Given the description of an element on the screen output the (x, y) to click on. 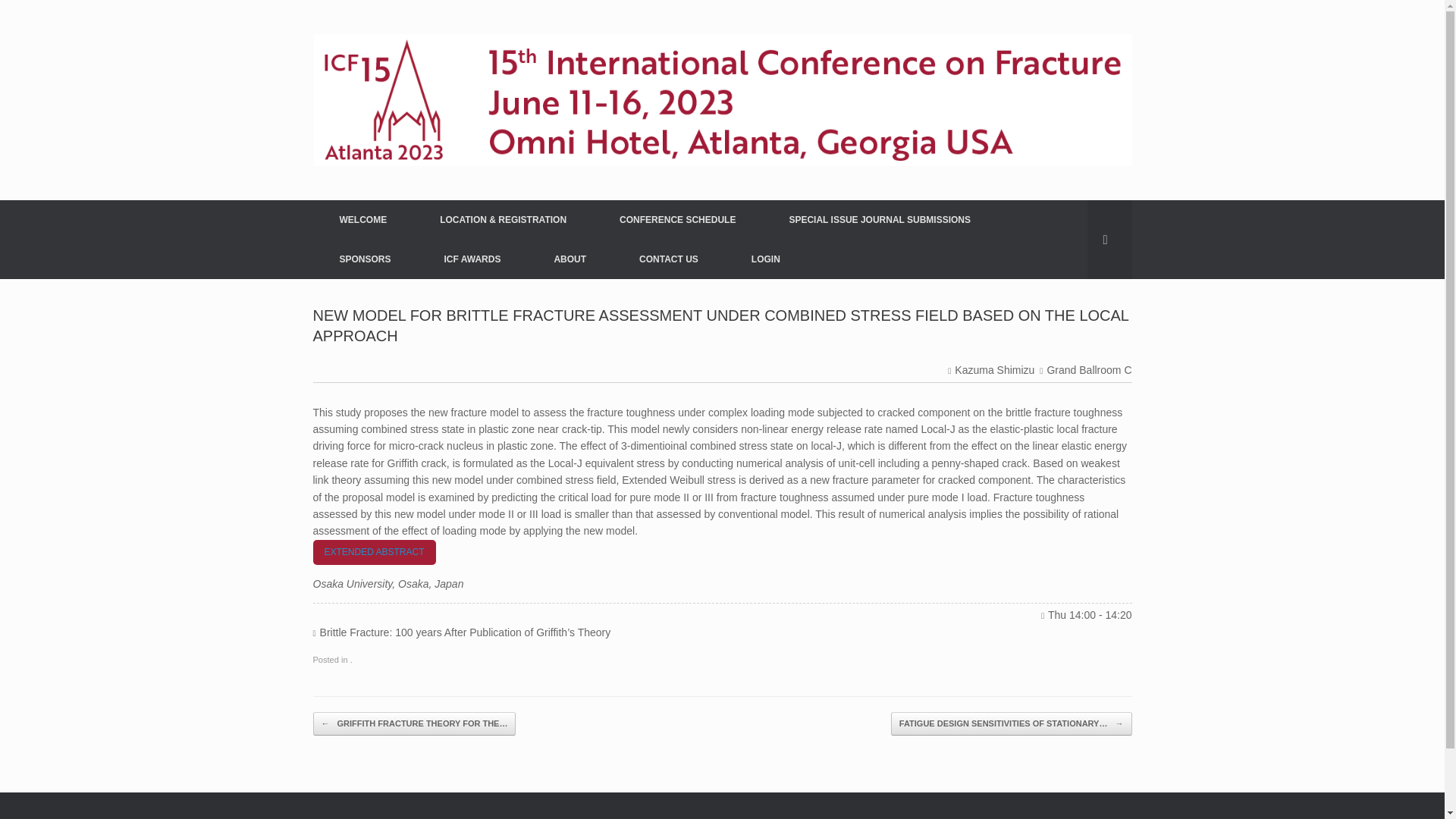
SPONSORS (364, 259)
CONFERENCE SCHEDULE (676, 219)
WELCOME (363, 219)
CONTACT US (668, 259)
International Conference on Fracture (722, 100)
SPECIAL ISSUE JOURNAL SUBMISSIONS (879, 219)
EXTENDED ABSTRACT (374, 552)
LOGIN (765, 259)
ICF AWARDS (472, 259)
ABOUT (569, 259)
